Given the description of an element on the screen output the (x, y) to click on. 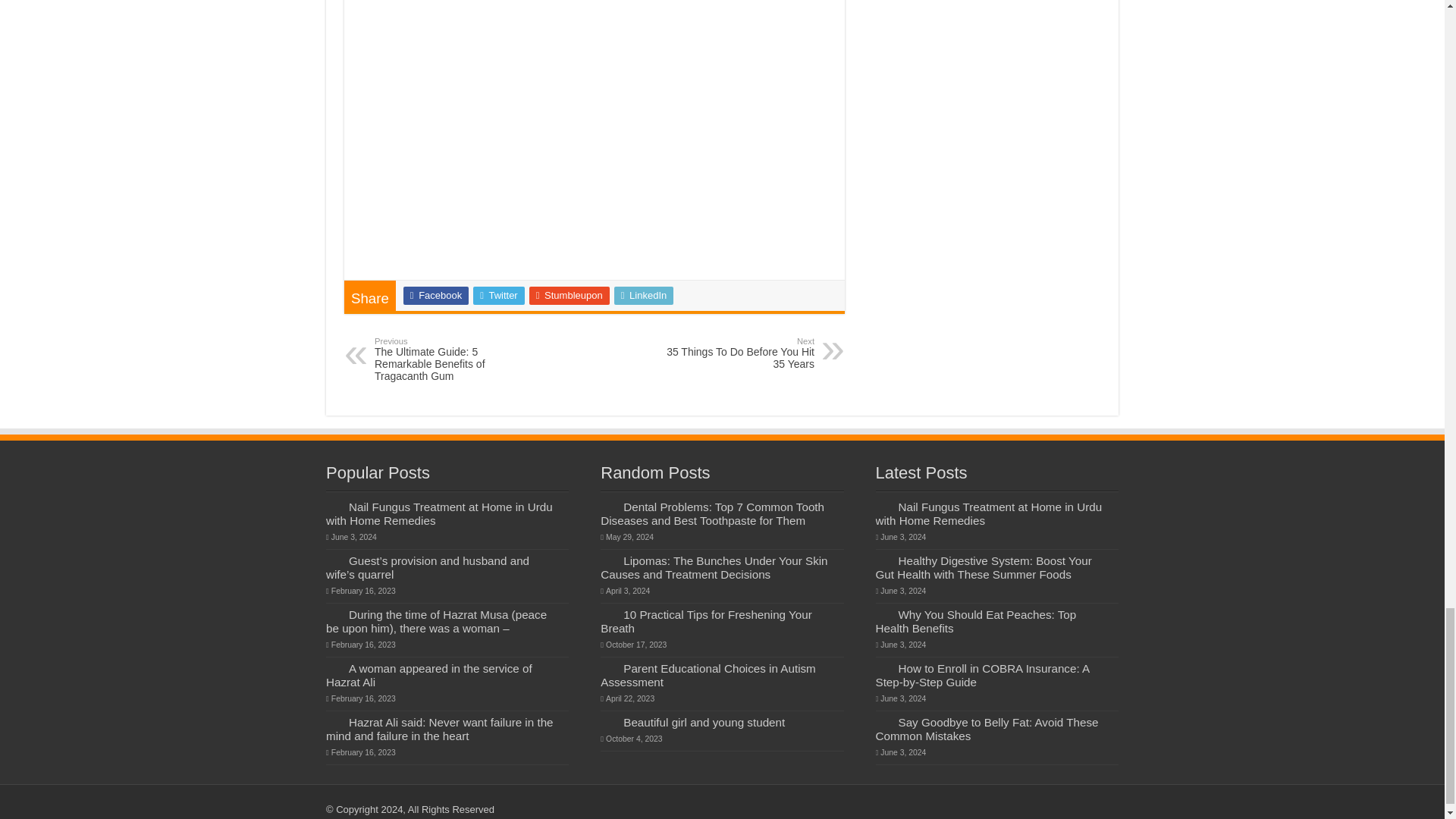
LinkedIn (736, 353)
Advertisement (644, 295)
Stumbleupon (594, 152)
Twitter (569, 295)
Facebook (498, 295)
